Given the description of an element on the screen output the (x, y) to click on. 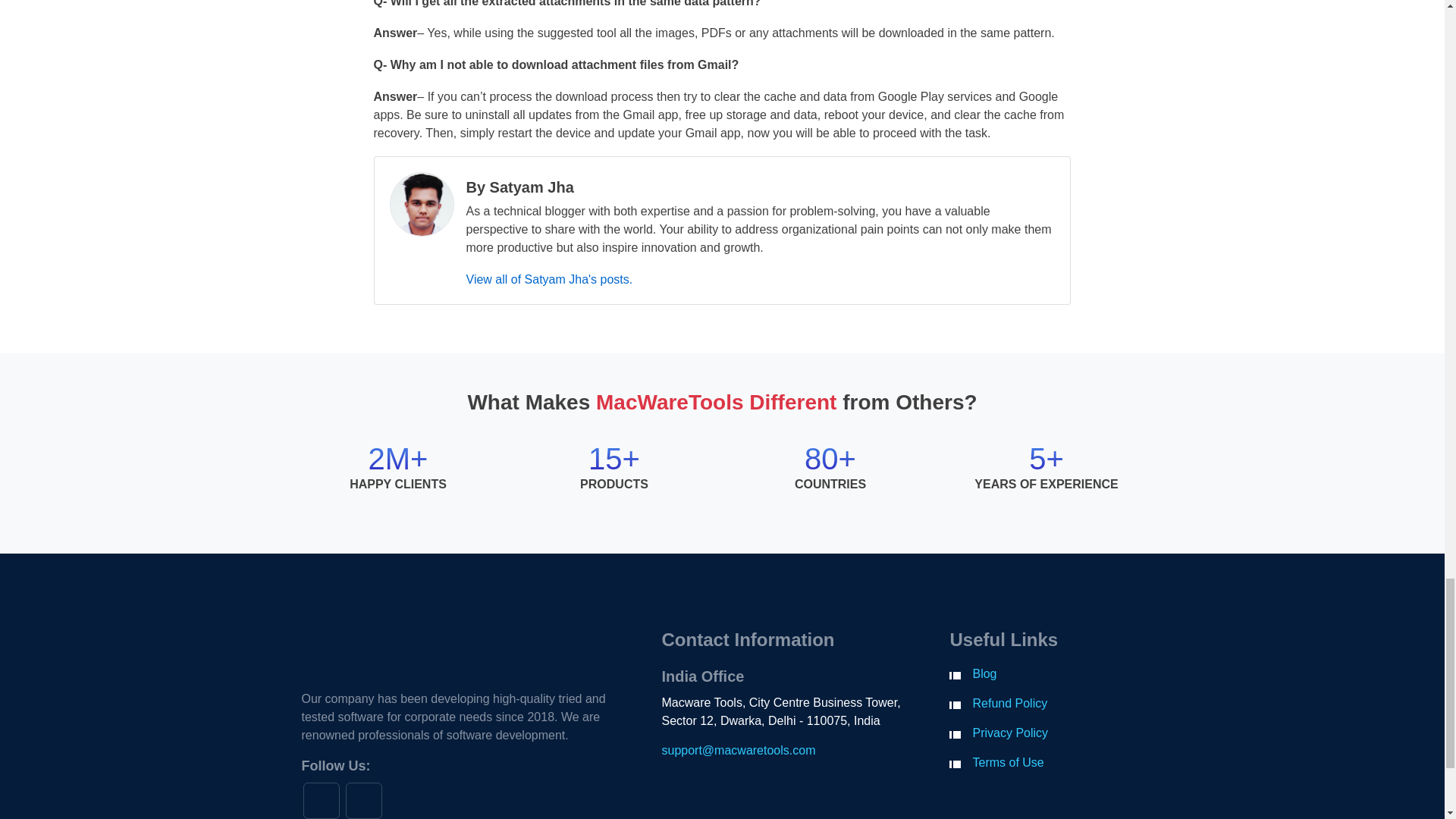
Refund Policy (1009, 703)
View all of Satyam Jha's posts. (548, 278)
Terms of Use (1007, 762)
Privacy Policy (1010, 732)
Blog (983, 673)
